Given the description of an element on the screen output the (x, y) to click on. 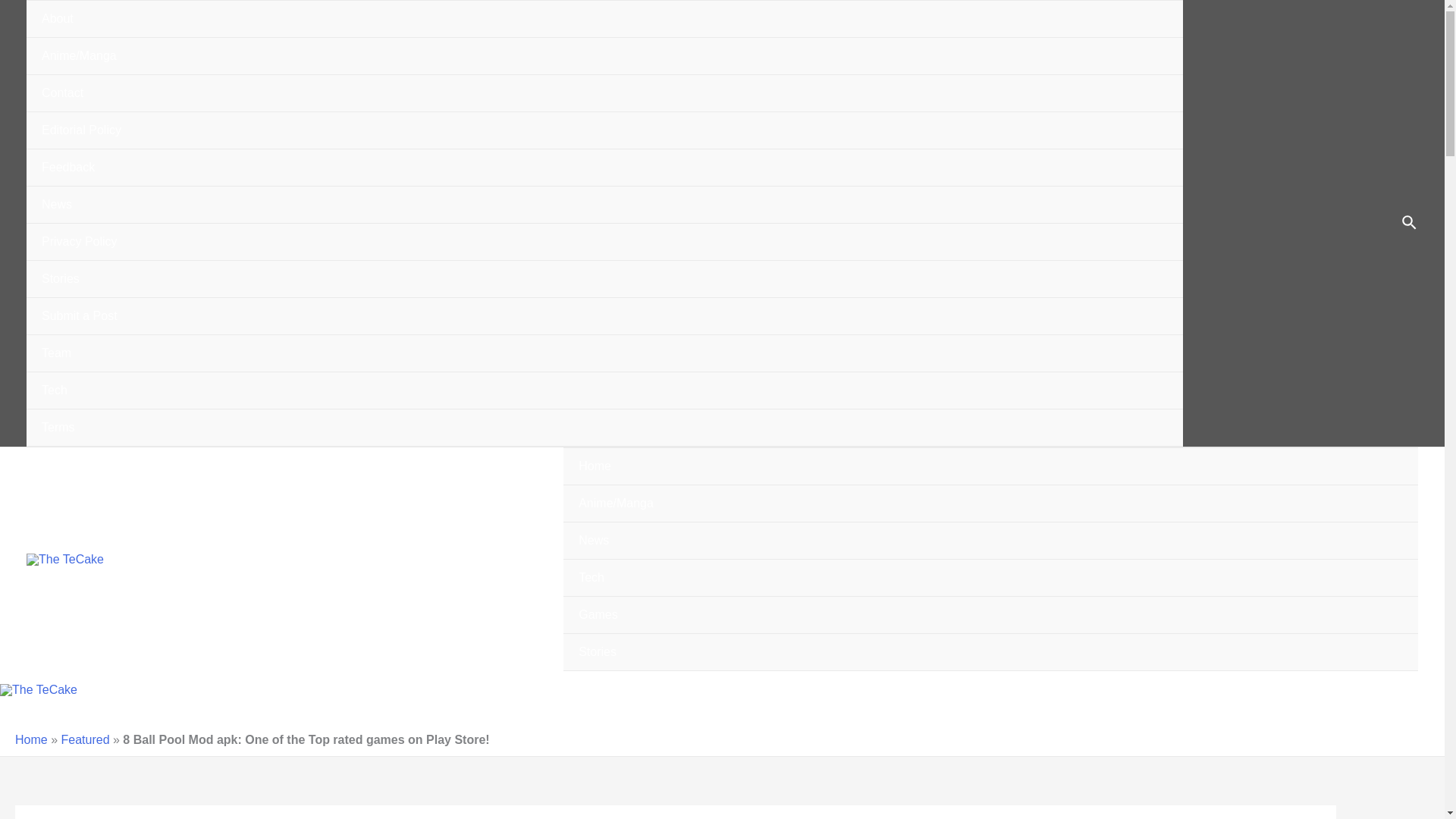
Tech (990, 578)
Team (604, 353)
Tech (604, 390)
News (604, 204)
Home (31, 739)
Contact (604, 93)
Terms (604, 427)
News (990, 540)
Editorial Policy (604, 130)
Stories (604, 279)
Games (990, 615)
Privacy Policy (604, 242)
About (604, 18)
Stories (990, 651)
Home (990, 466)
